Given the description of an element on the screen output the (x, y) to click on. 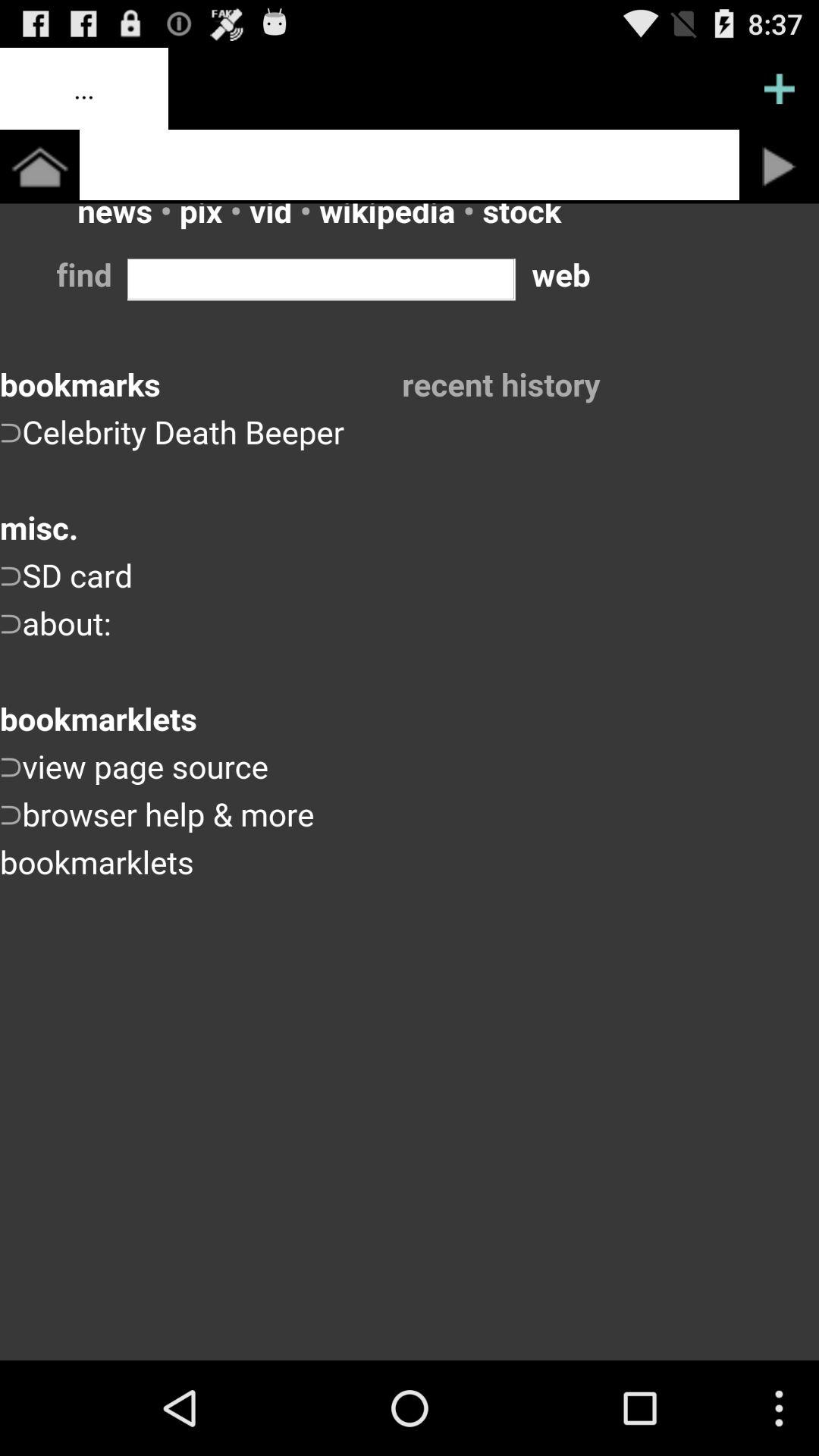
home page (409, 164)
